Given the description of an element on the screen output the (x, y) to click on. 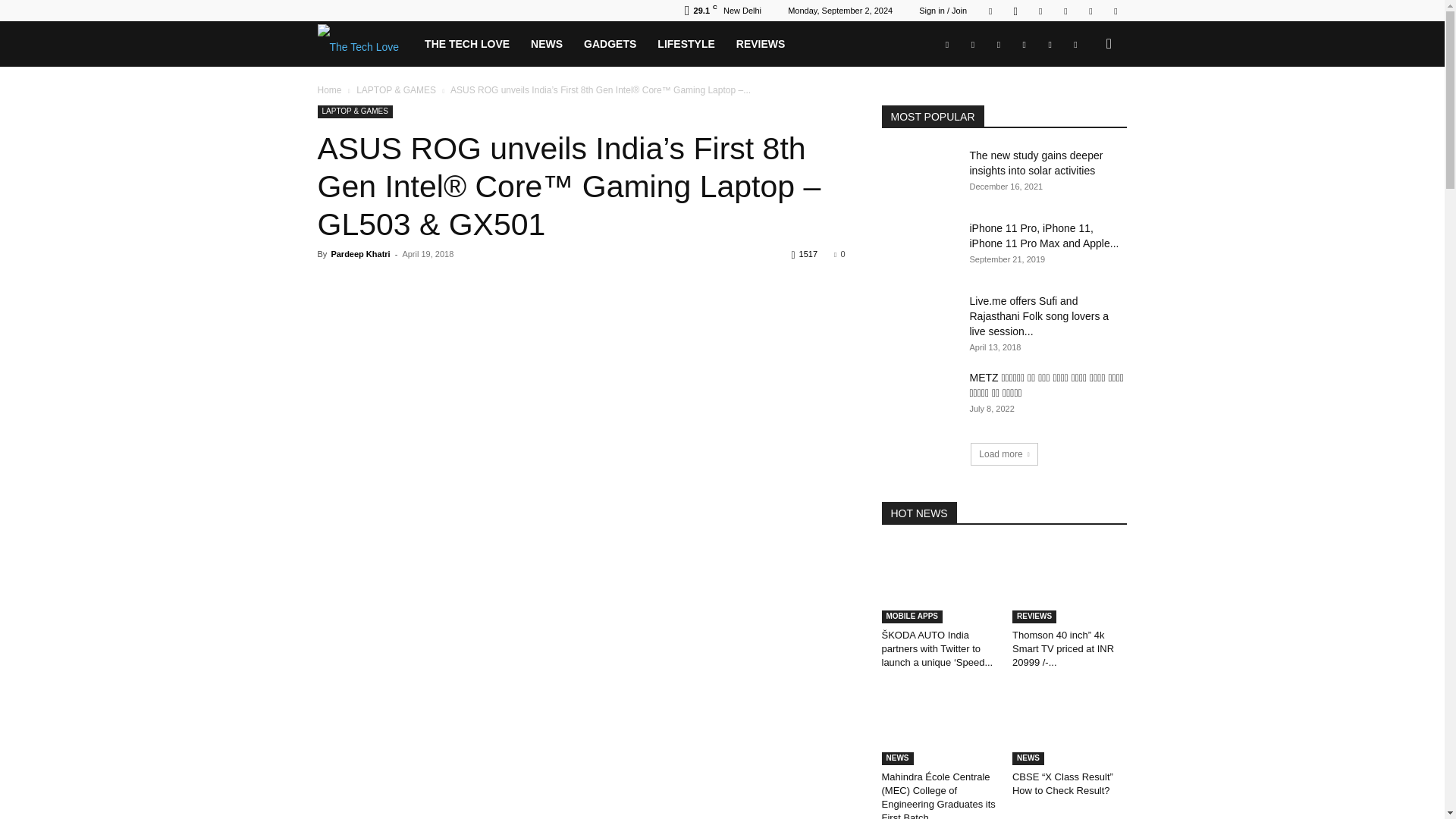
Facebook (989, 10)
Youtube (1114, 10)
VKontakte (1090, 10)
NEWS (546, 43)
Instagram (1015, 10)
Twitter (1040, 10)
Vimeo (1065, 10)
The Tech Love (365, 44)
THE TECH LOVE (466, 43)
